Given the description of an element on the screen output the (x, y) to click on. 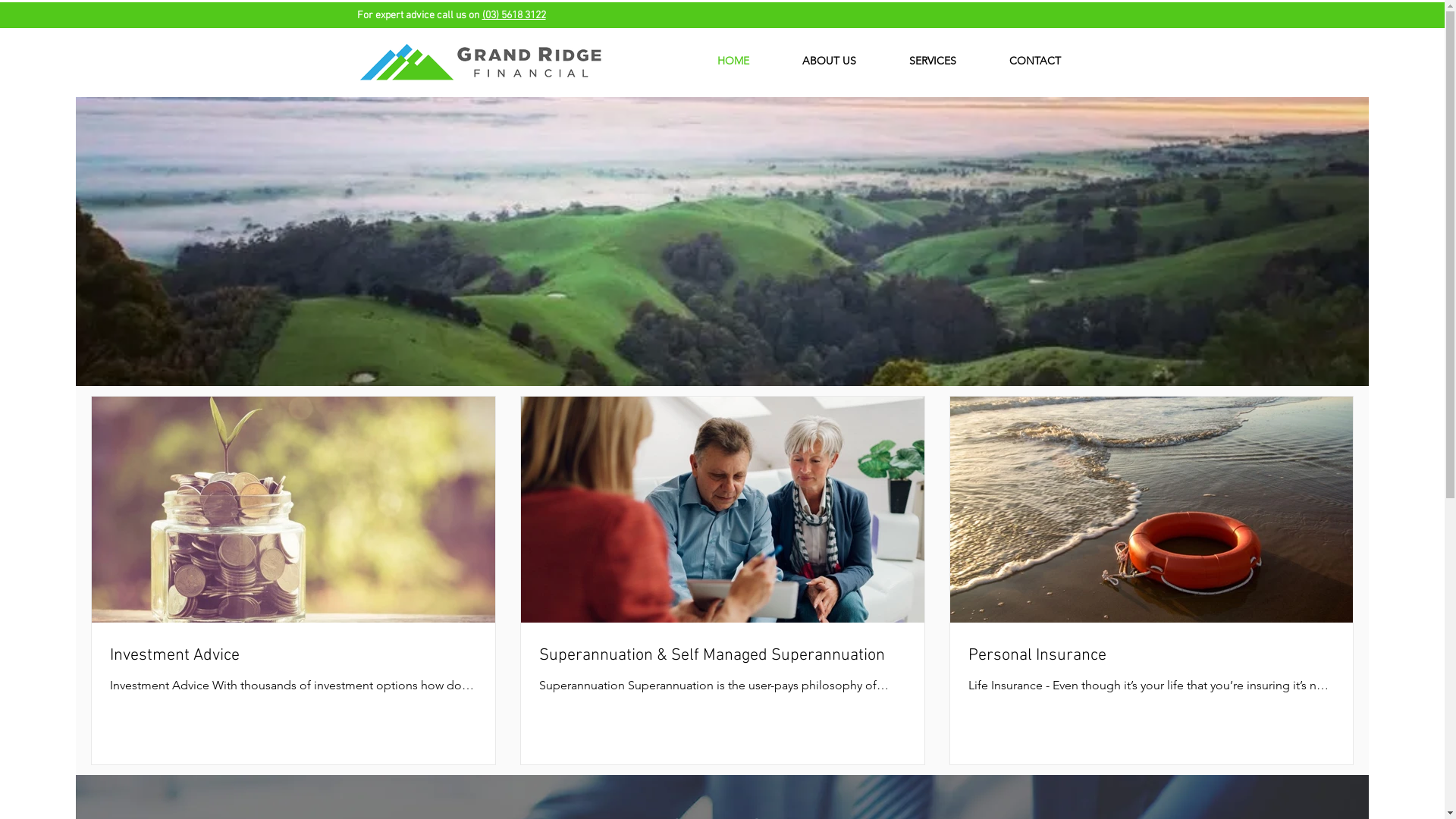
Superannuation & Self Managed Superannuation Element type: text (722, 656)
Personal Insurance Element type: text (1151, 656)
HOME Element type: text (732, 60)
CONTACT Element type: text (1034, 60)
Investment Advice Element type: text (292, 656)
(03) 5618 3122 Element type: text (514, 15)
SERVICES Element type: text (932, 60)
ABOUT US Element type: text (828, 60)
